Given the description of an element on the screen output the (x, y) to click on. 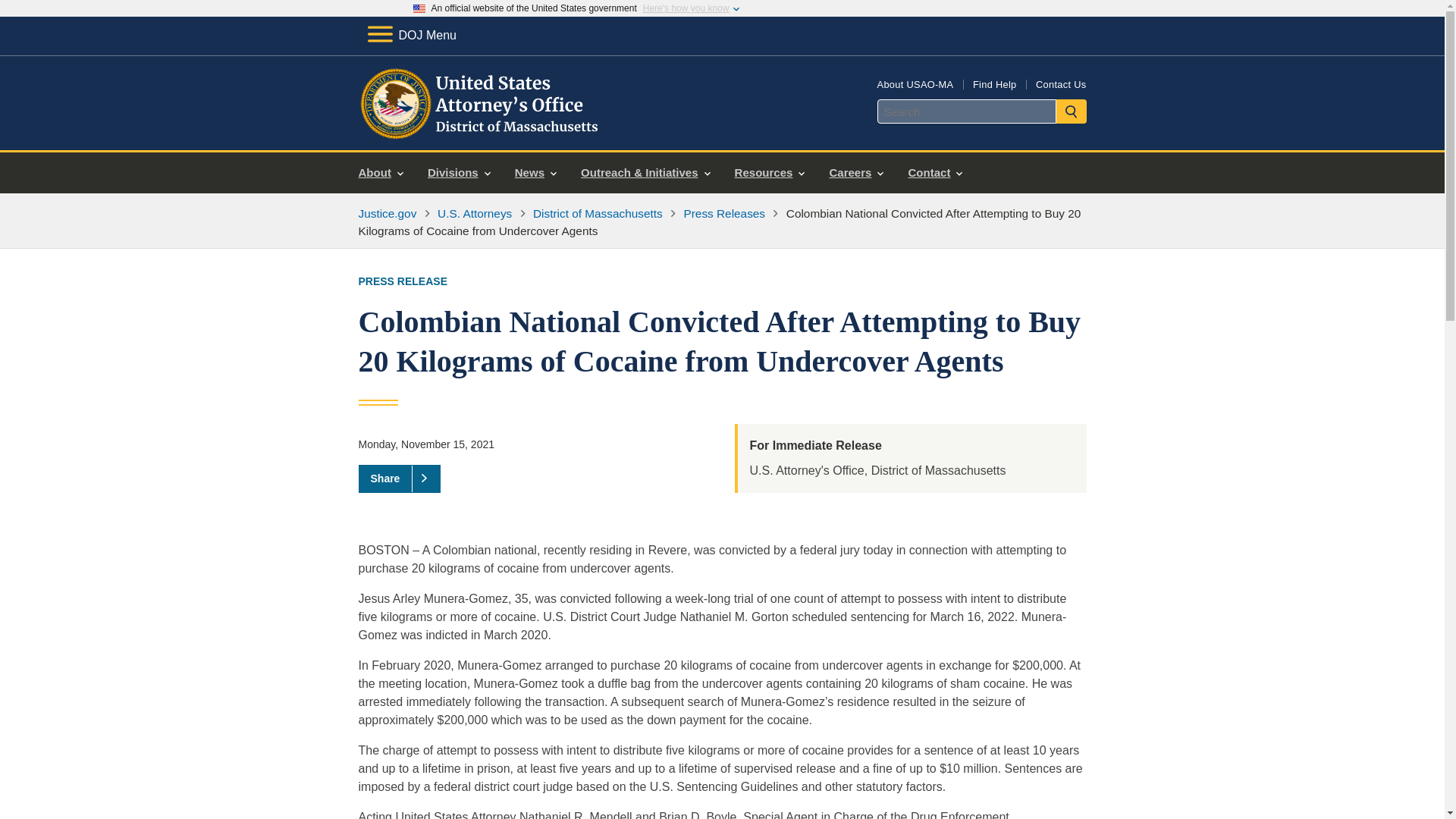
Justice.gov (387, 213)
Home (481, 132)
Careers (855, 173)
U.S. Attorneys (475, 213)
About USAO-MA (915, 84)
Contact (934, 173)
District of Massachusetts (597, 213)
DOJ Menu (411, 35)
News (535, 173)
Find Help (994, 84)
